Given the description of an element on the screen output the (x, y) to click on. 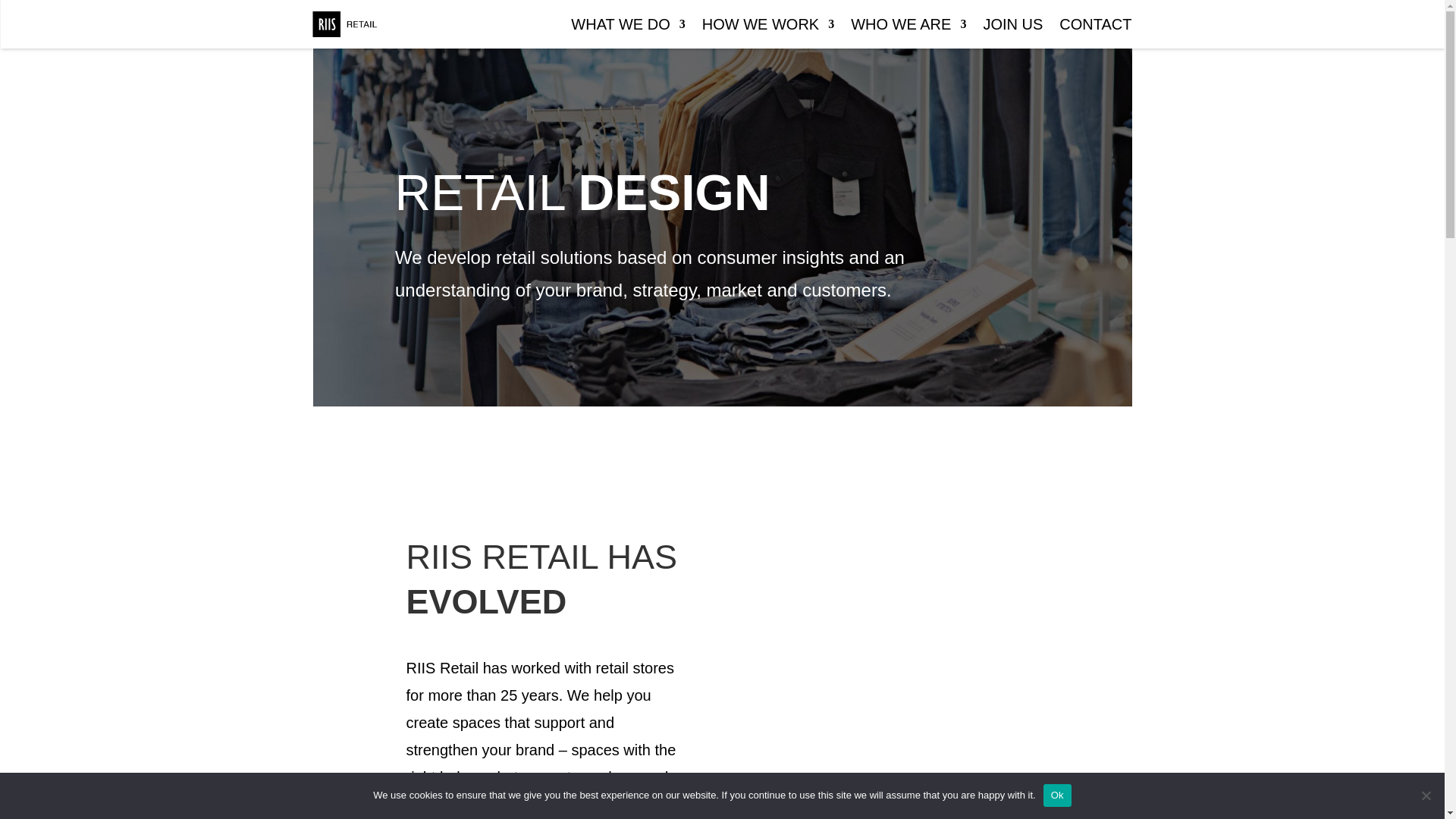
CONTACT (1095, 27)
JOIN US (1012, 27)
No (1425, 795)
HOW WE WORK (767, 27)
WHO WE ARE (908, 27)
WHAT WE DO (627, 27)
